Given the description of an element on the screen output the (x, y) to click on. 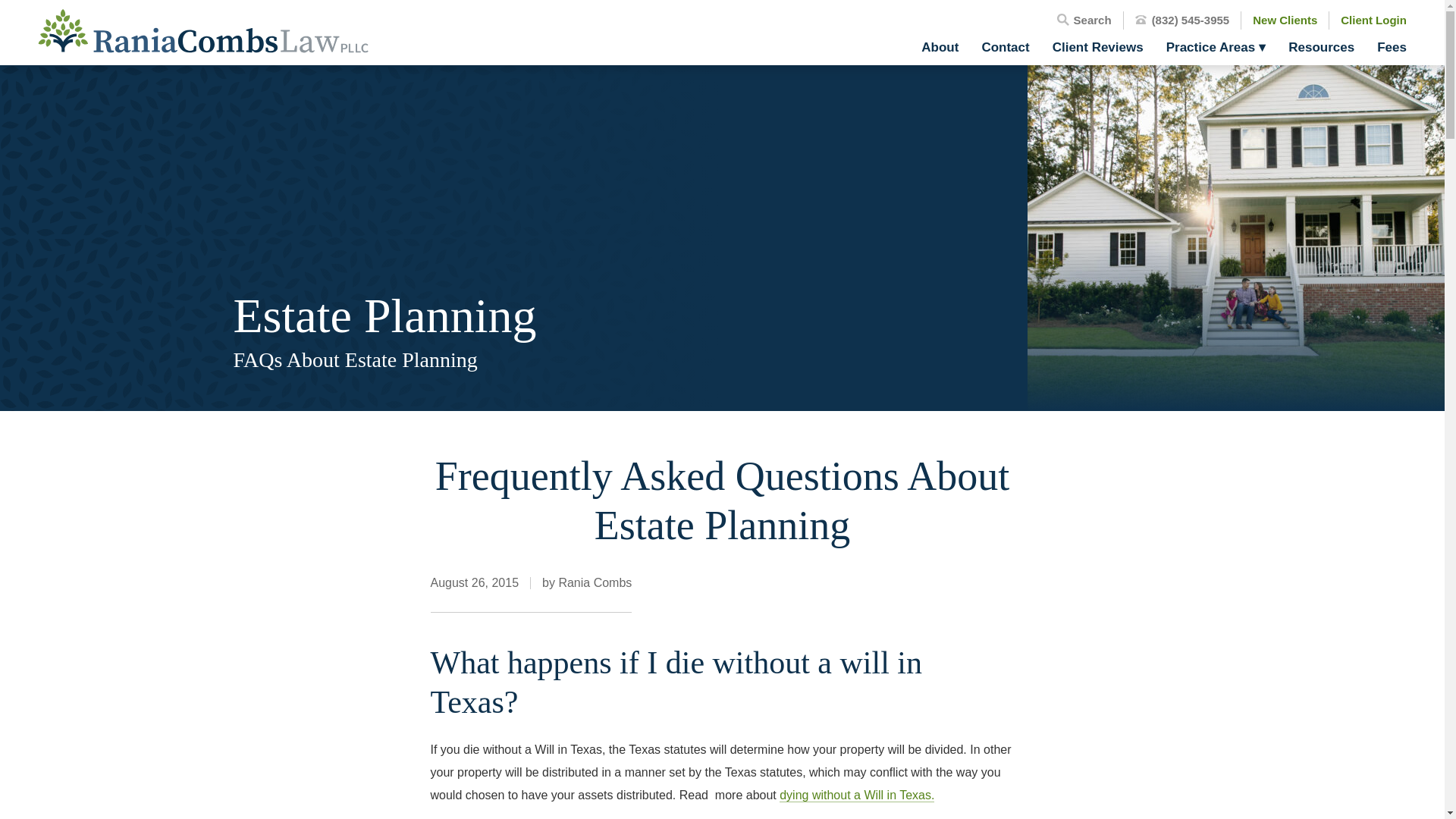
Practice Areas (1216, 47)
Contact (1005, 47)
Rania Combs Law PLLC Logo (202, 32)
Resources (1320, 47)
New Clients (1284, 19)
Rania Combs Law PLLC Logo (202, 30)
Search (1084, 19)
Client Reviews (1097, 47)
Client Login (1373, 19)
Fees (1385, 47)
